Given the description of an element on the screen output the (x, y) to click on. 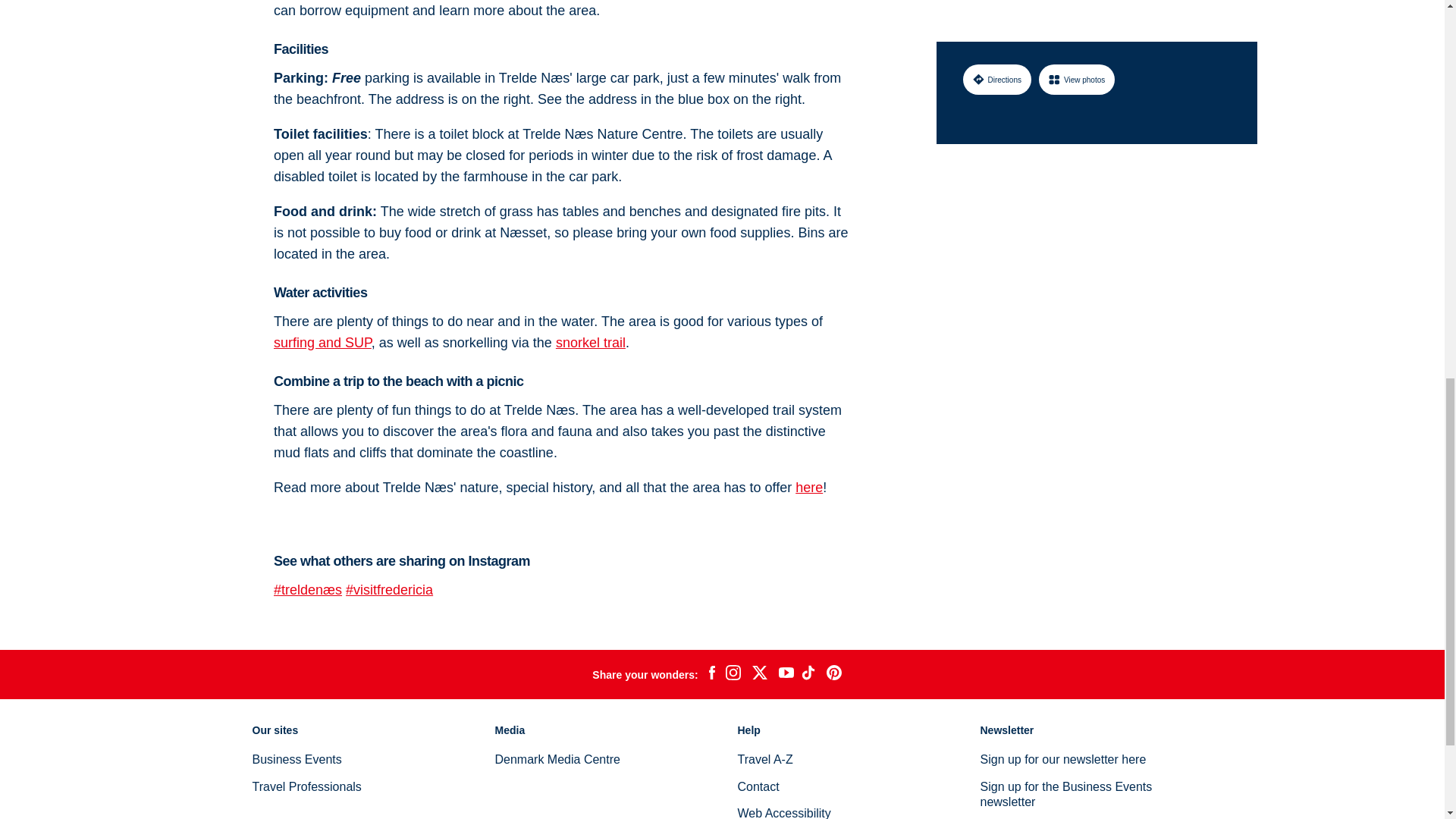
Travel Professionals (306, 786)
Denmark Media Centre (557, 758)
Travel A-Z (764, 758)
snorkel trail (591, 342)
Business Events (295, 758)
facebook (711, 674)
Web Accessibility (782, 812)
Travel Professionals (306, 786)
Sign up for the Business Events newsletter (1065, 794)
instagram (732, 674)
Web Accessibility (782, 812)
youtube (786, 674)
Sign up for our newsletter here (1062, 758)
Travel A-Z (764, 758)
here (808, 487)
